Given the description of an element on the screen output the (x, y) to click on. 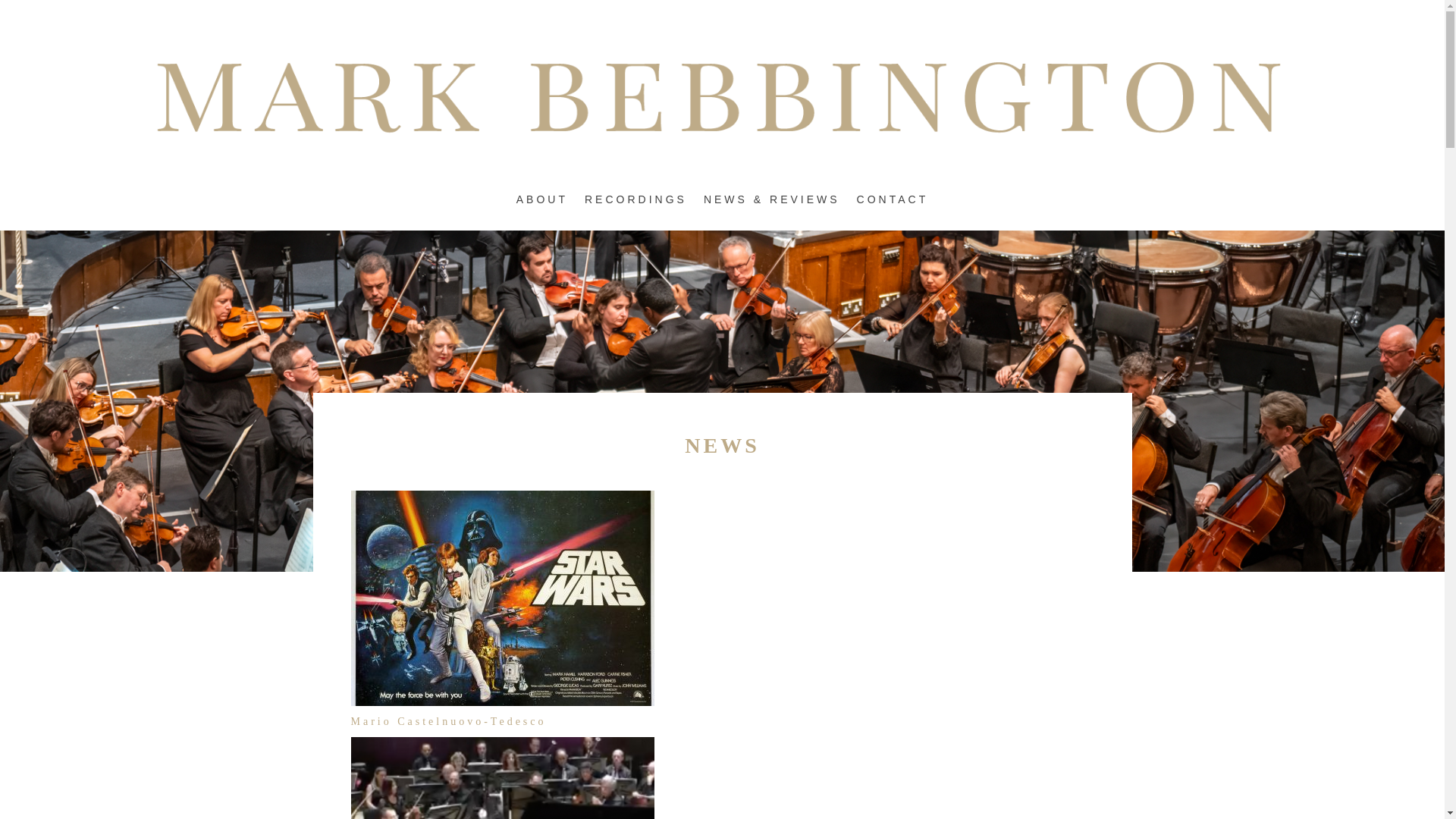
CONTACT (892, 207)
RECORDINGS (636, 207)
Mario Castelnuovo-Tedesco (448, 721)
ABOUT (541, 207)
